Given the description of an element on the screen output the (x, y) to click on. 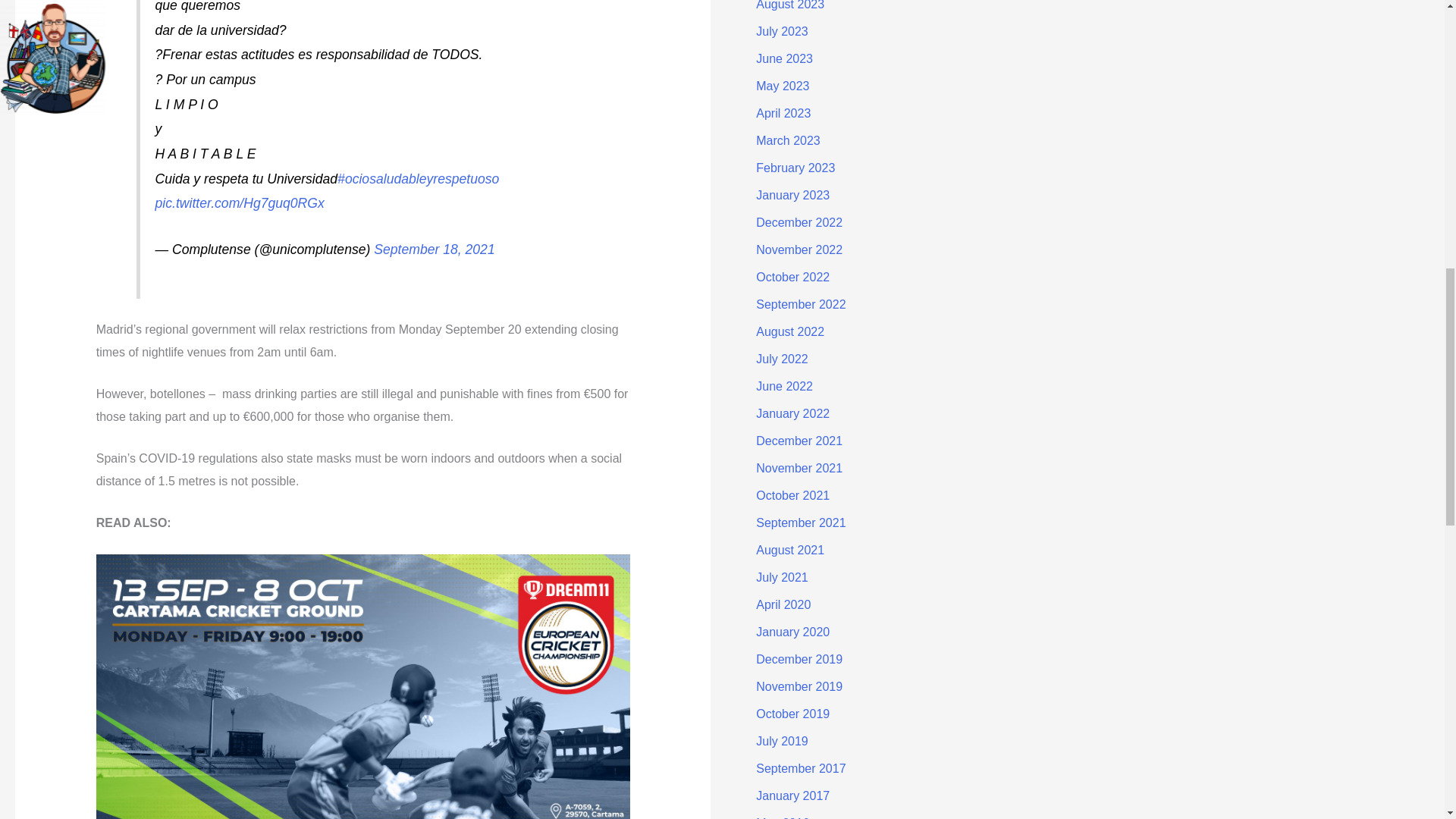
September 18, 2021 (434, 249)
July 2023 (781, 31)
August 2023 (789, 5)
